Given the description of an element on the screen output the (x, y) to click on. 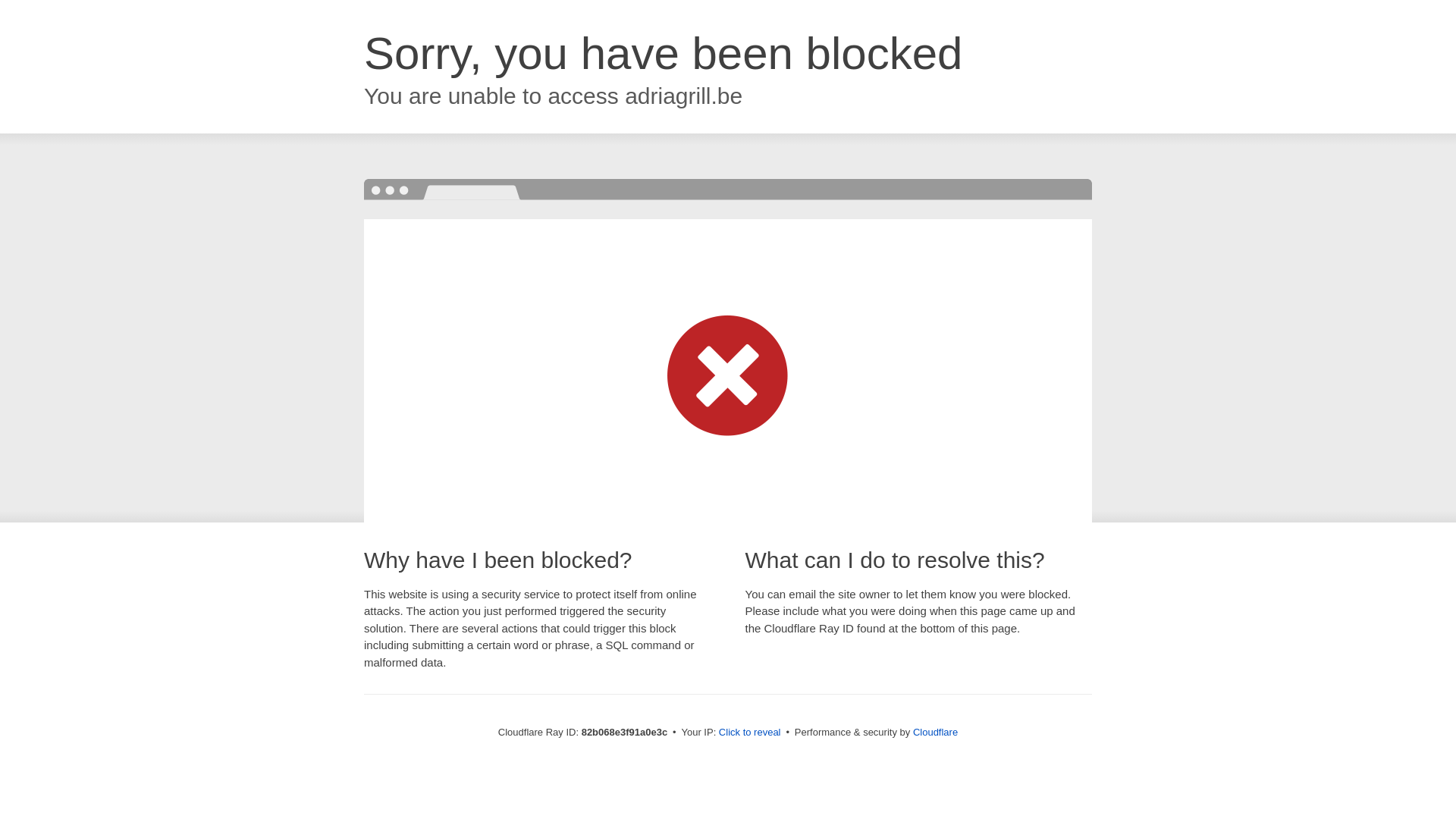
Click to reveal Element type: text (749, 732)
Cloudflare Element type: text (935, 731)
